Given the description of an element on the screen output the (x, y) to click on. 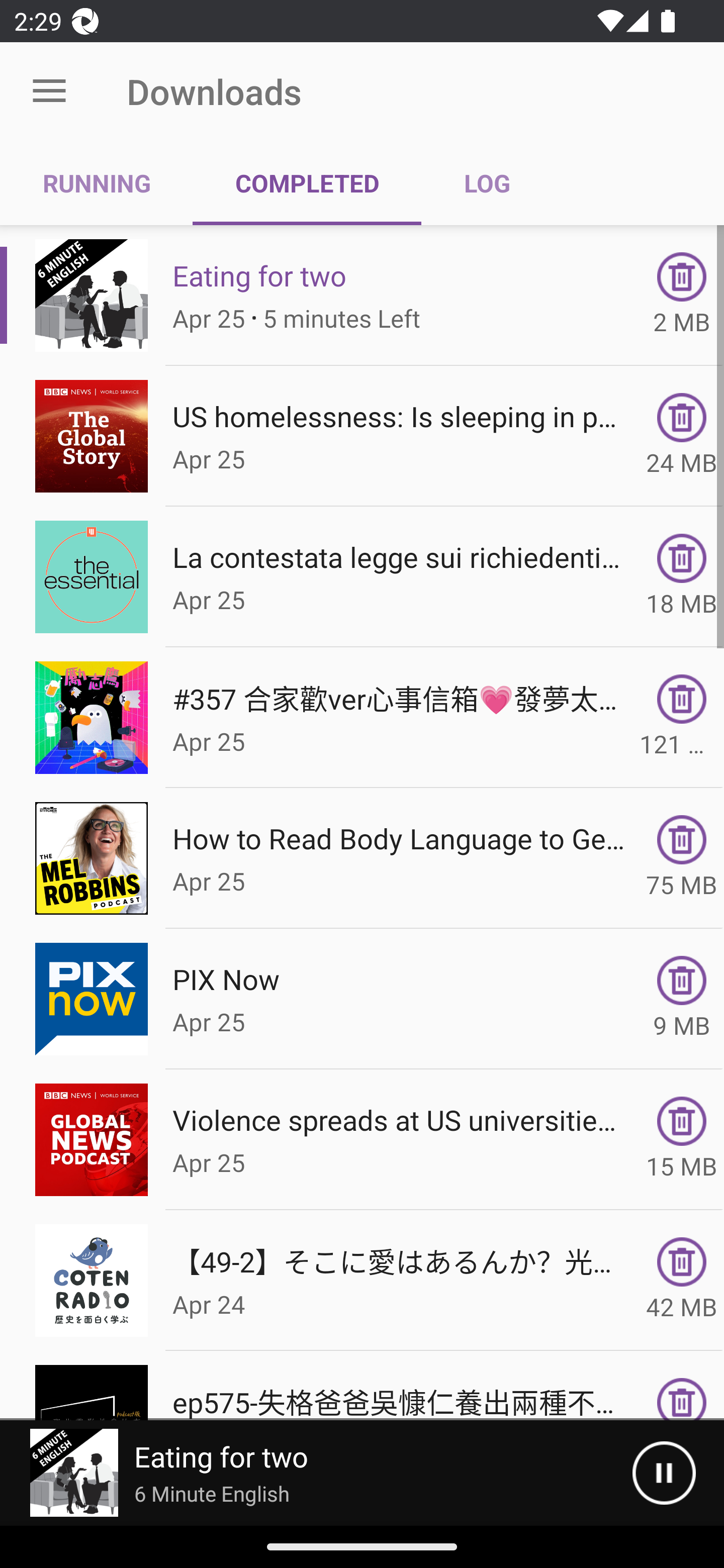
Open menu (49, 91)
RUNNING (96, 183)
COMPLETED (306, 183)
LOG (486, 183)
Remove Episode (681, 276)
Remove Episode (681, 417)
Remove Episode (681, 558)
Remove Episode (681, 699)
Remove Episode (681, 839)
Picture PIX Now Apr 25 Remove Episode 9 MB (362, 998)
Remove Episode (681, 980)
Remove Episode (681, 1121)
Remove Episode (681, 1262)
Remove Episode (681, 1399)
Picture Eating for two 6 Minute English (316, 1472)
Pause (663, 1472)
